Given the description of an element on the screen output the (x, y) to click on. 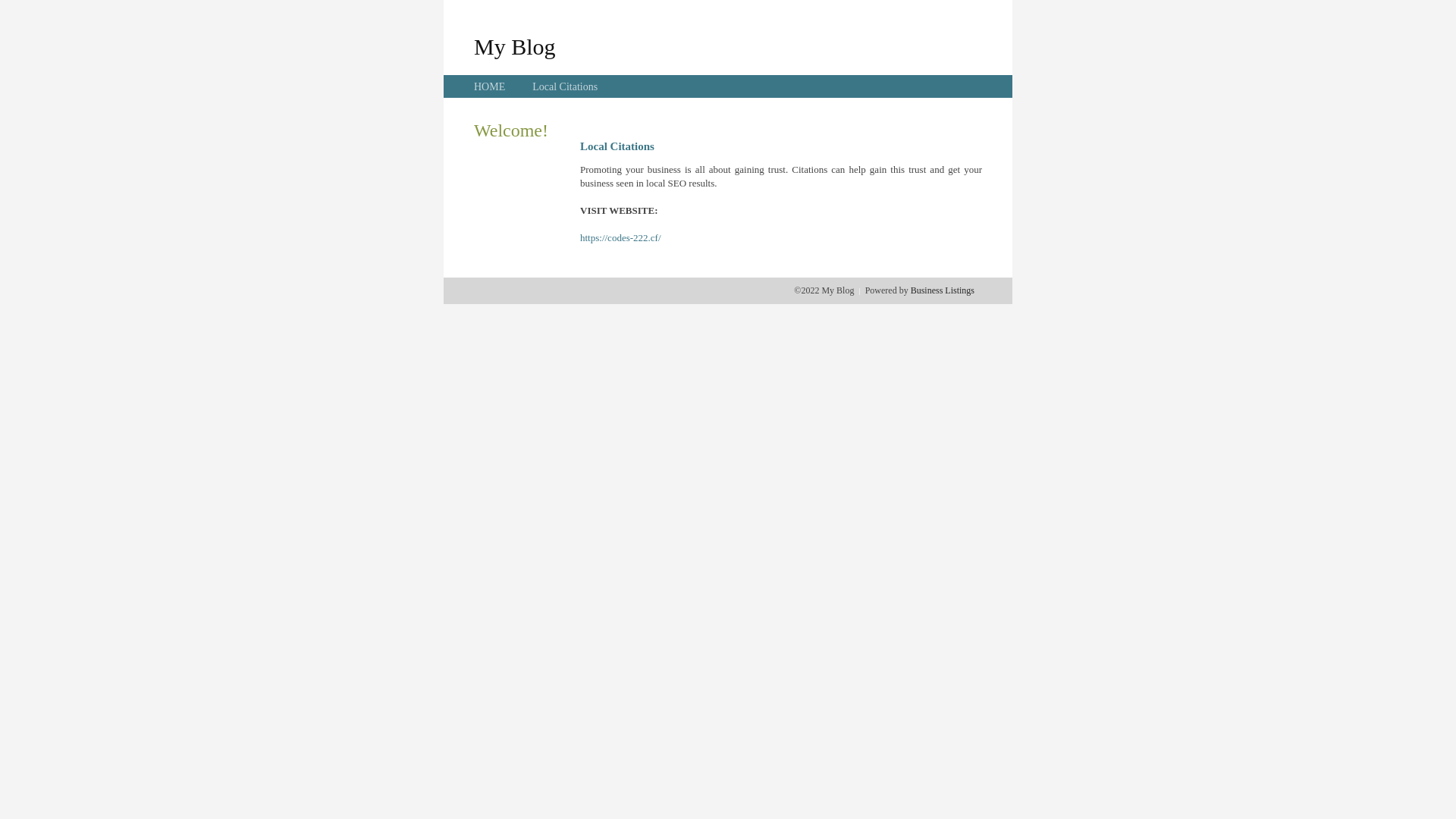
My Blog Element type: text (514, 46)
HOME Element type: text (489, 86)
Local Citations Element type: text (564, 86)
https://codes-222.cf/ Element type: text (620, 237)
Business Listings Element type: text (942, 290)
